Given the description of an element on the screen output the (x, y) to click on. 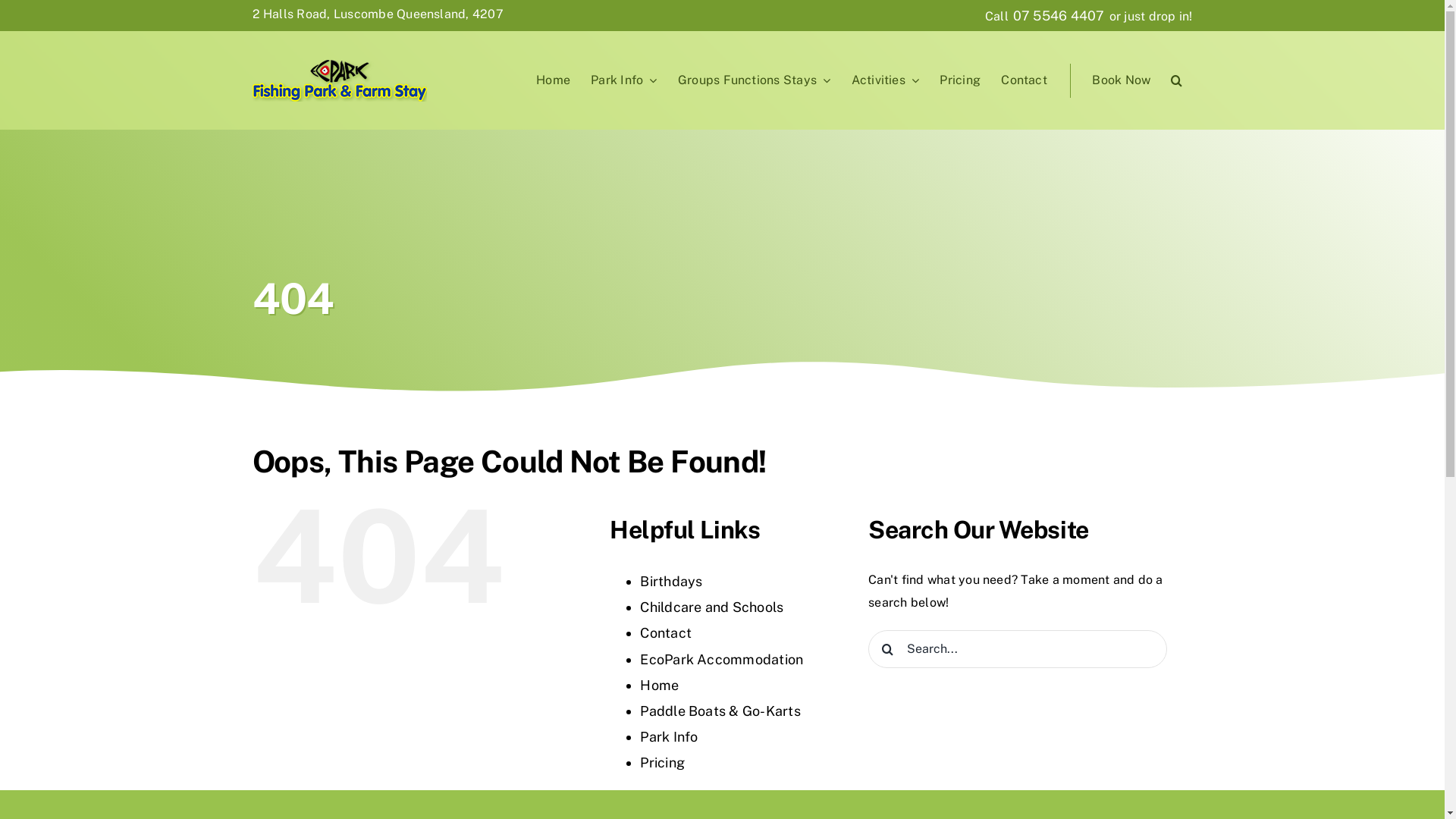
Park Info Element type: text (668, 736)
Book Now Element type: text (1121, 80)
Pricing Element type: text (960, 80)
2 Halls Road, Luscombe Queensland, 4207 Element type: text (376, 13)
Pricing Element type: text (662, 762)
Search Element type: hover (1176, 80)
07 5546 4407 Element type: text (1058, 15)
EcoPark Accommodation Element type: text (721, 659)
Groups Functions Stays Element type: text (754, 80)
Birthdays Element type: text (671, 581)
Childcare and Schools Element type: text (711, 607)
Home Element type: text (659, 685)
Contact Element type: text (1023, 80)
Activities Element type: text (884, 80)
Home Element type: text (553, 80)
Contact Element type: text (665, 632)
Paddle Boats & Go-Karts Element type: text (720, 710)
Park Info Element type: text (623, 80)
